Given the description of an element on the screen output the (x, y) to click on. 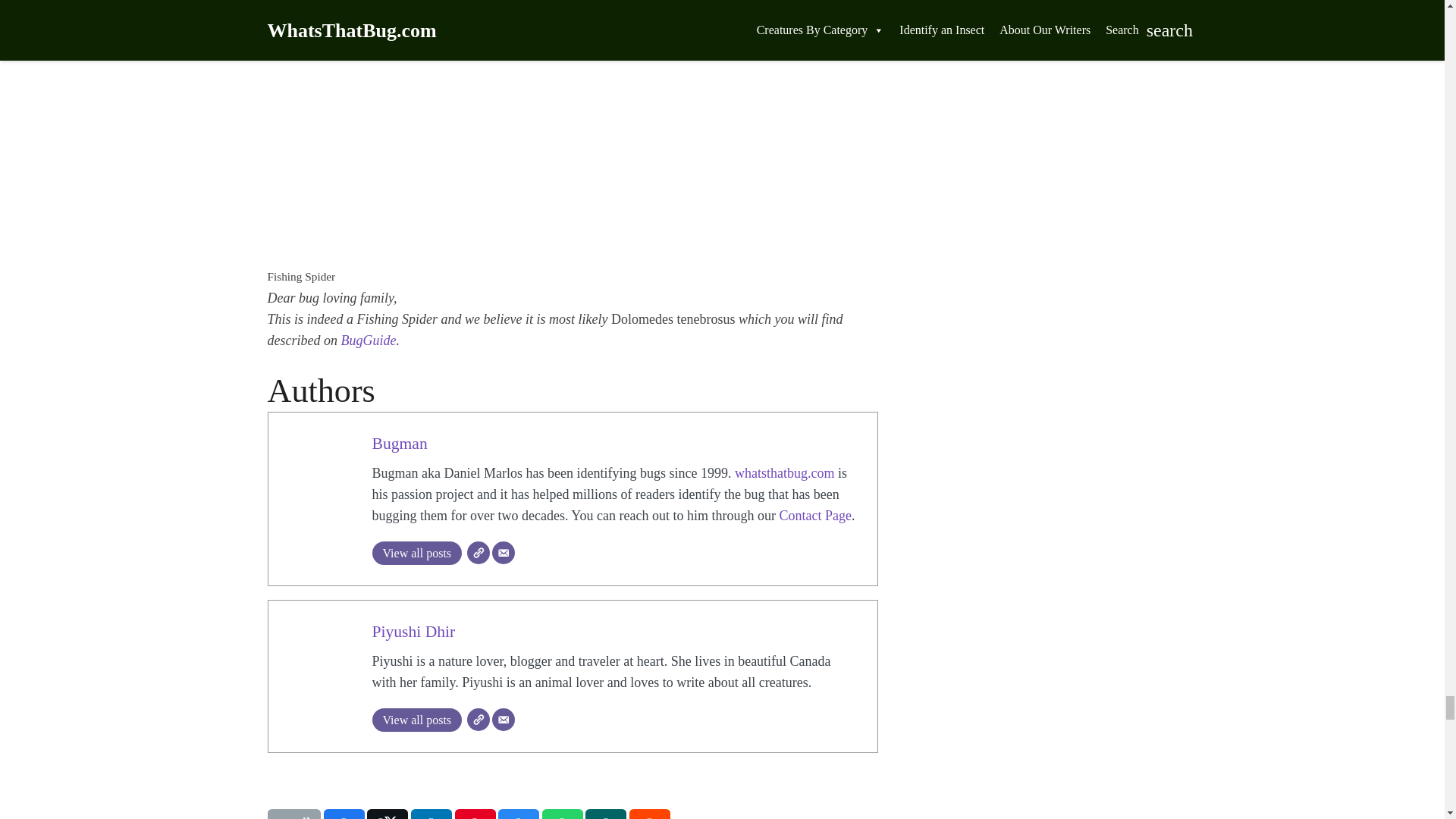
Share this (430, 814)
Tweet this (386, 814)
Bugman (398, 443)
View all posts (416, 553)
Share this (517, 814)
Share this (344, 814)
Share this (562, 814)
View all posts (416, 720)
Piyushi Dhir (412, 631)
Pin this (475, 814)
Email this (293, 814)
